Given the description of an element on the screen output the (x, y) to click on. 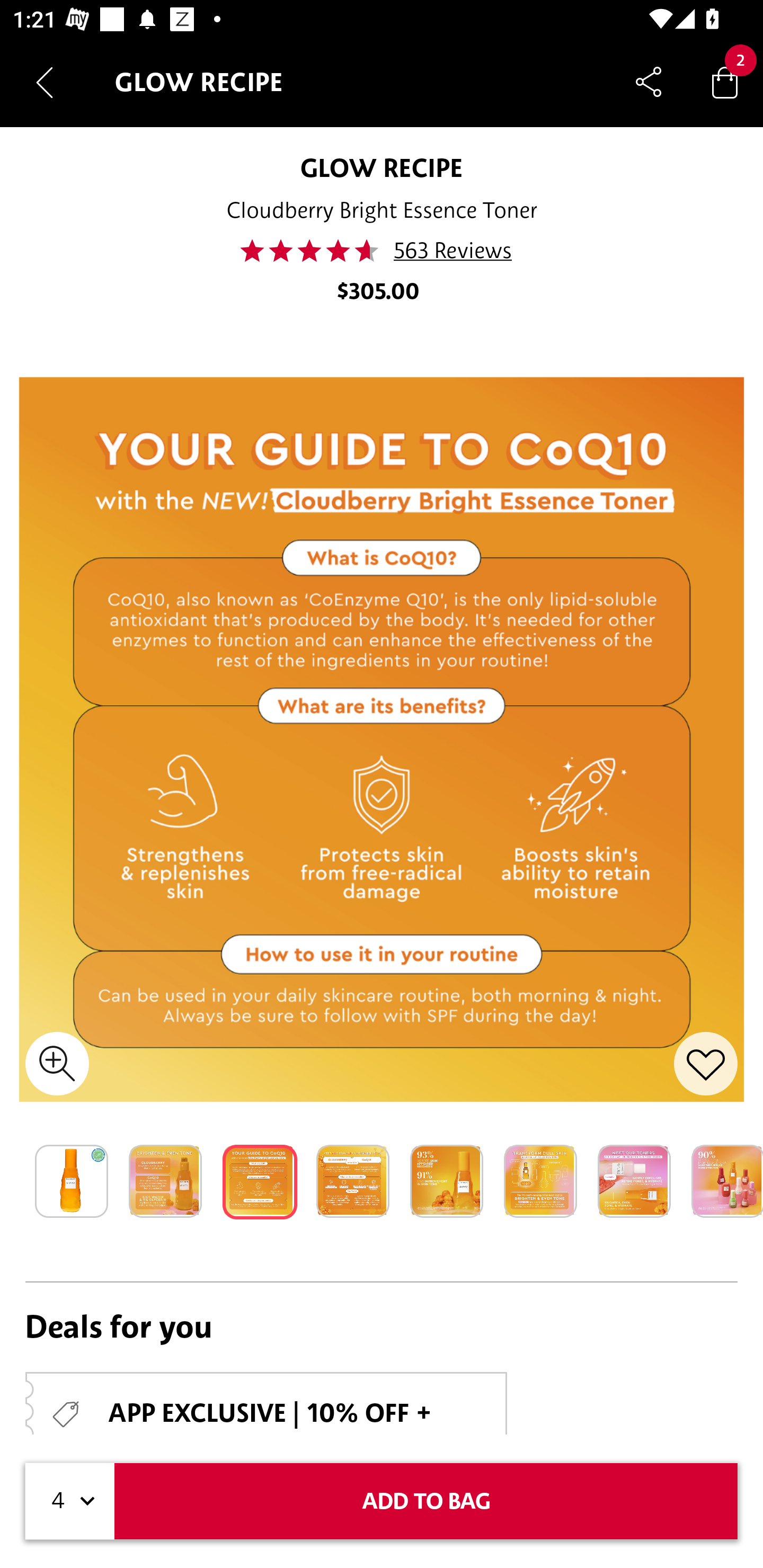
Navigate up (44, 82)
Share (648, 81)
Bag (724, 81)
GLOW RECIPE (381, 167)
46.0 563 Reviews (381, 250)
4 (69, 1500)
ADD TO BAG (425, 1500)
